Given the description of an element on the screen output the (x, y) to click on. 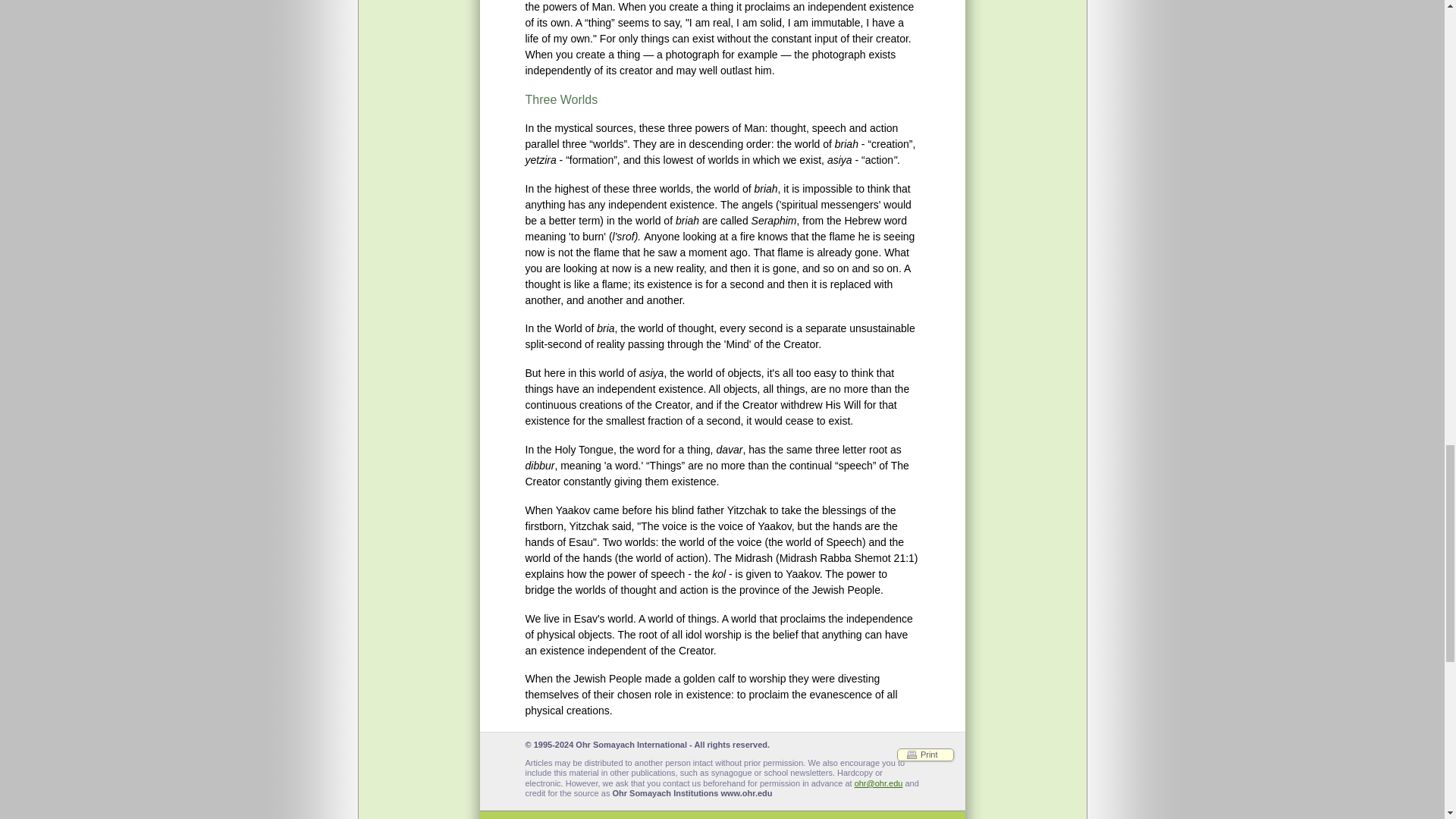
Print (924, 754)
